Given the description of an element on the screen output the (x, y) to click on. 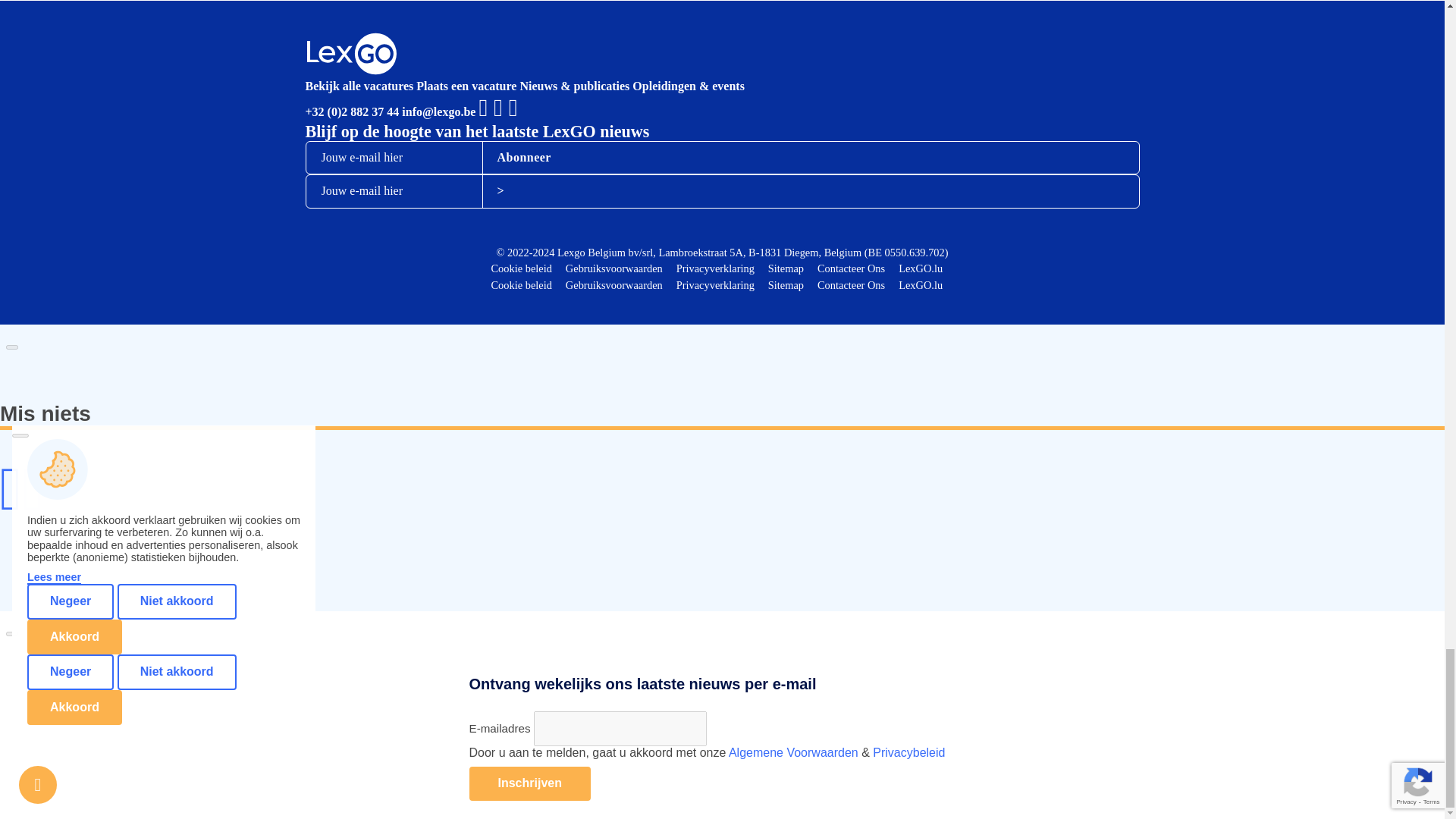
Abonneer (523, 157)
